Given the description of an element on the screen output the (x, y) to click on. 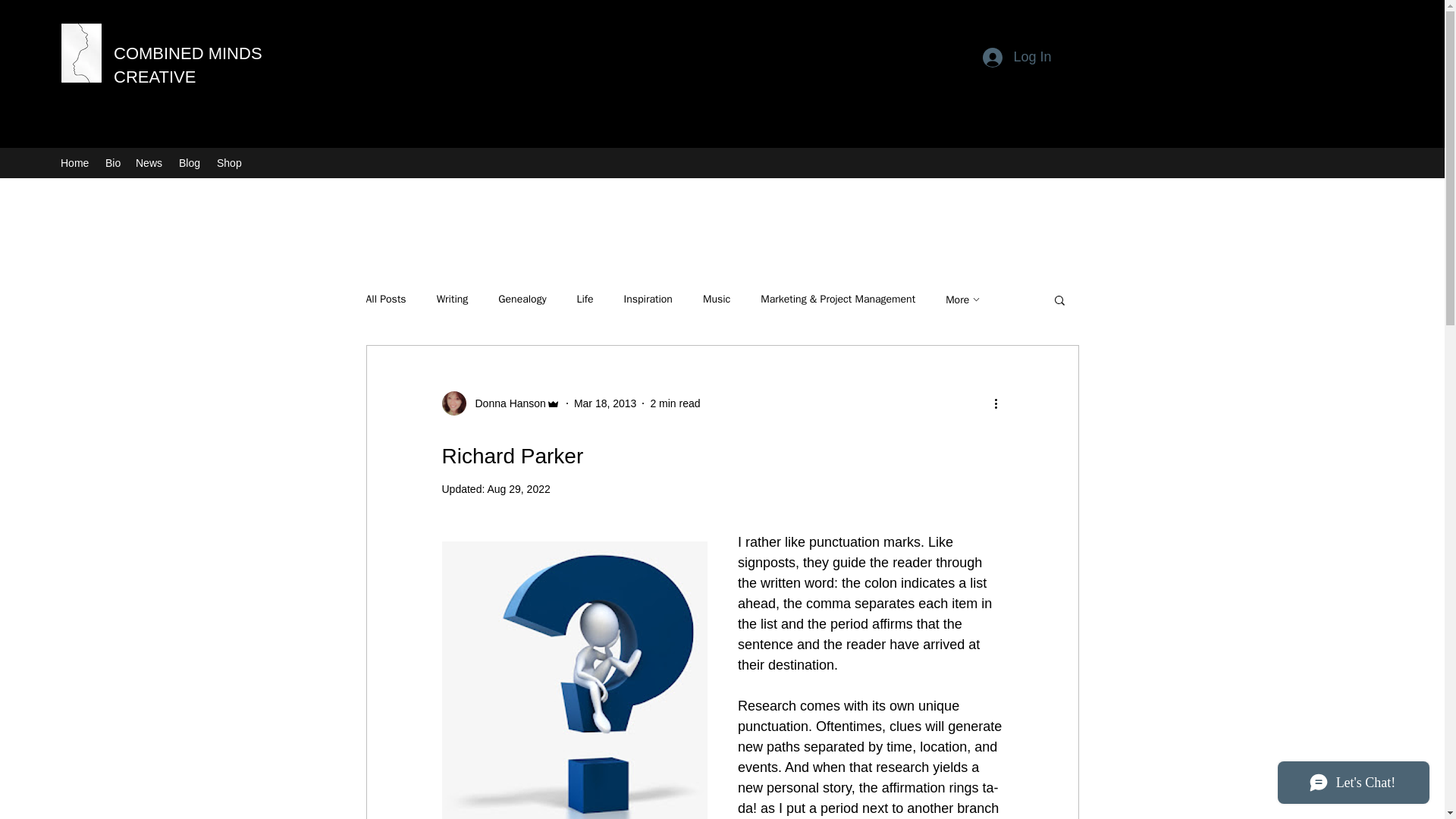
Life (585, 299)
News (149, 162)
Blog (190, 162)
Donna Hanson (500, 403)
Log In (1016, 57)
Inspiration (648, 299)
Shop (229, 162)
Genealogy (521, 299)
Music (716, 299)
2 min read (674, 403)
